Given the description of an element on the screen output the (x, y) to click on. 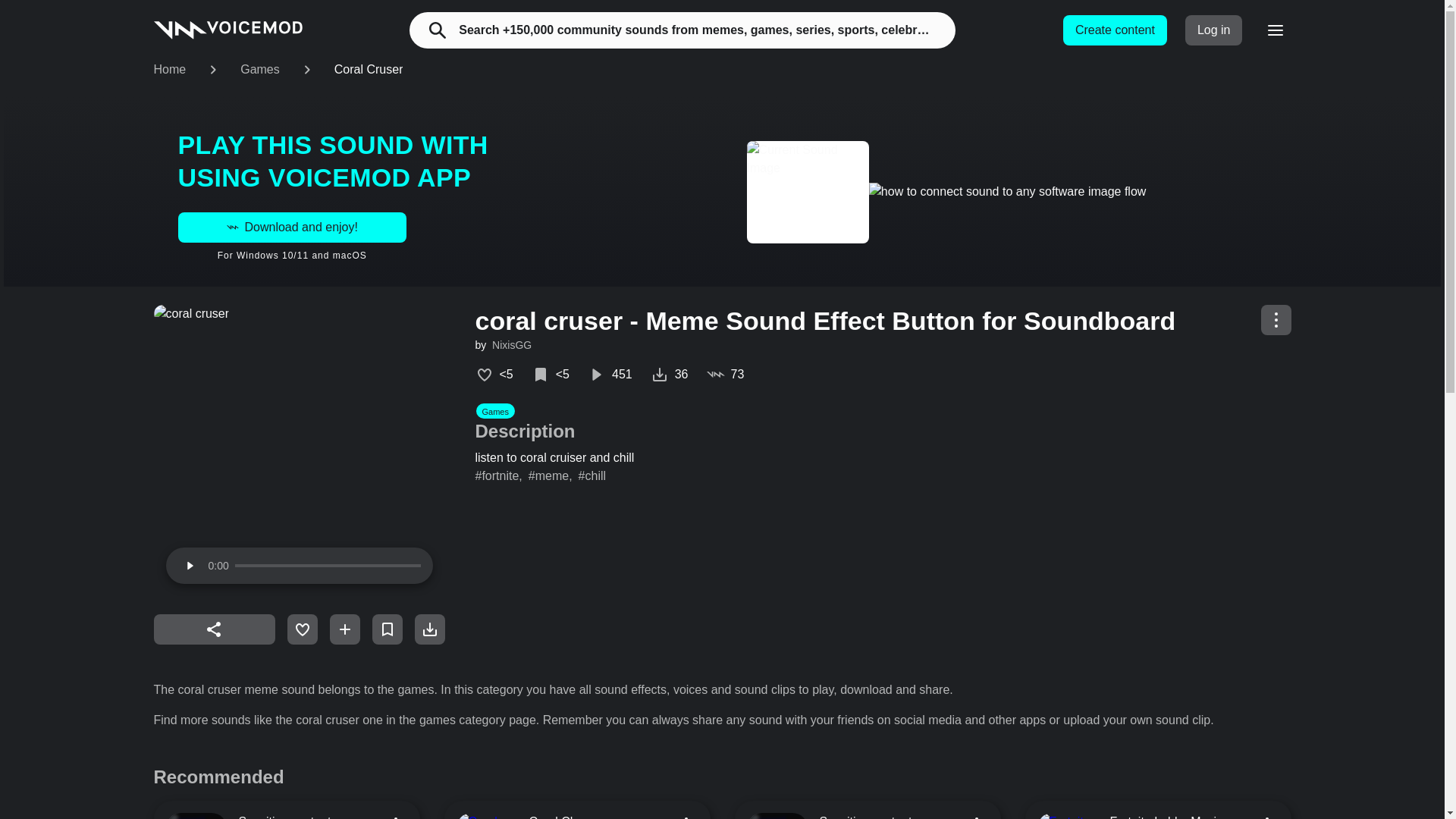
0 (327, 565)
Played 451 times (609, 374)
Home (169, 69)
Download and enjoy! (291, 227)
Downloaded 36 times (669, 374)
Sent to Voicemod 73 times (725, 374)
Games (259, 69)
Create content (1114, 30)
Coral Cruser (368, 69)
Log in (1214, 30)
